Given the description of an element on the screen output the (x, y) to click on. 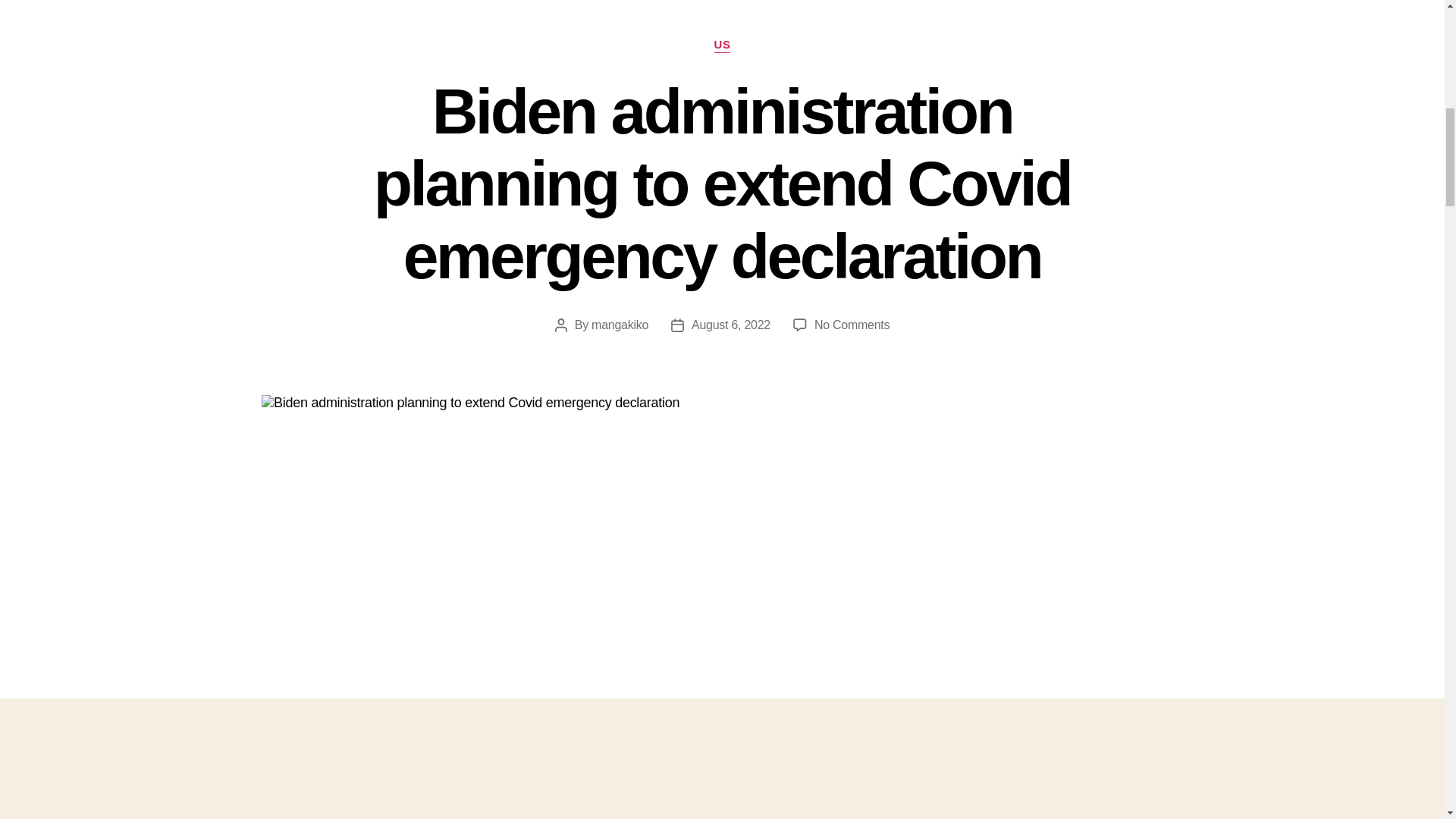
US (722, 45)
August 6, 2022 (730, 324)
mangakiko (619, 324)
